Given the description of an element on the screen output the (x, y) to click on. 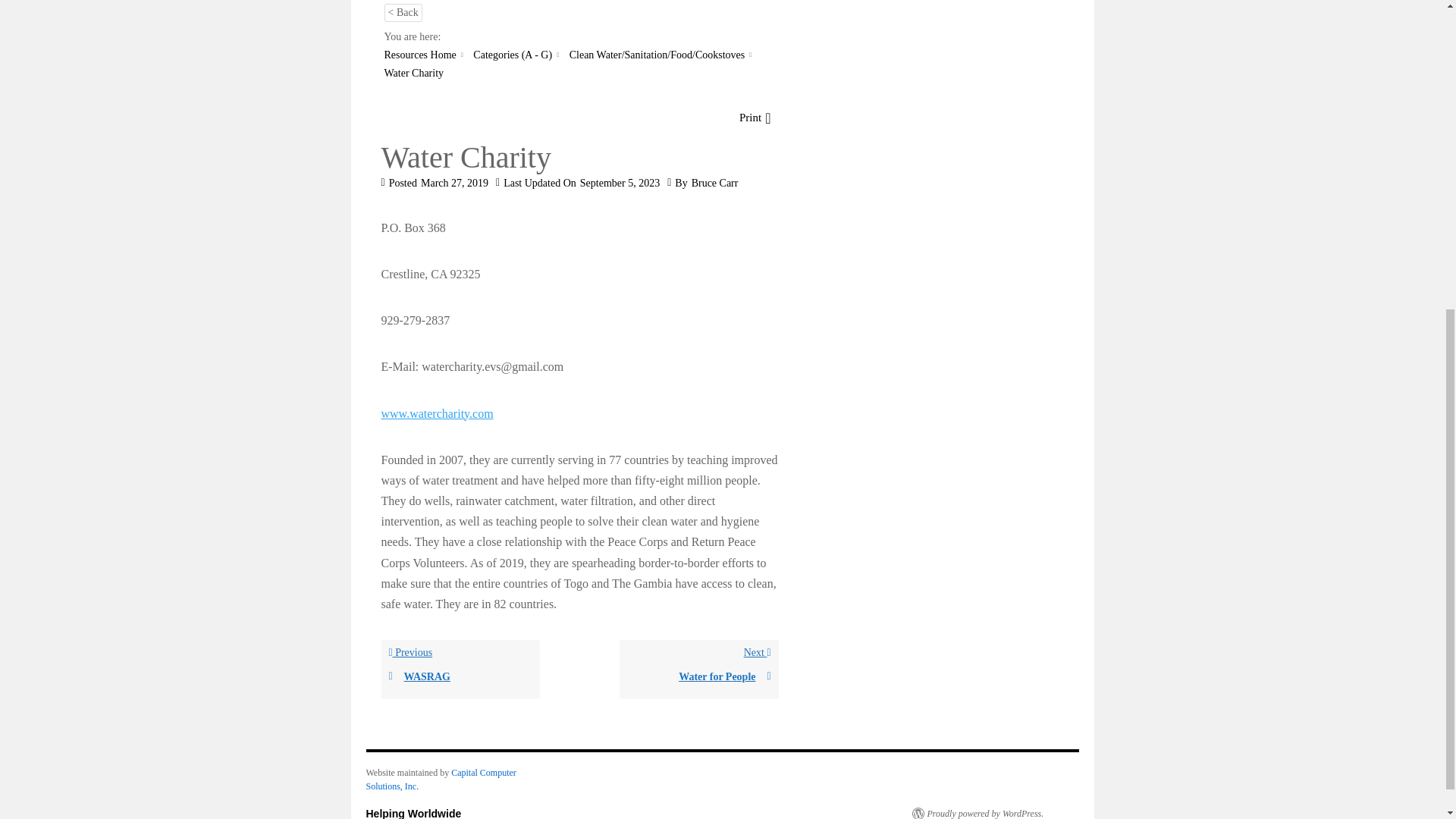
WASRAG (460, 676)
Capital Computer Solutions, Inc. (699, 669)
www.watercharity.com (460, 669)
Water for People (440, 779)
Resources Home (436, 413)
